Given the description of an element on the screen output the (x, y) to click on. 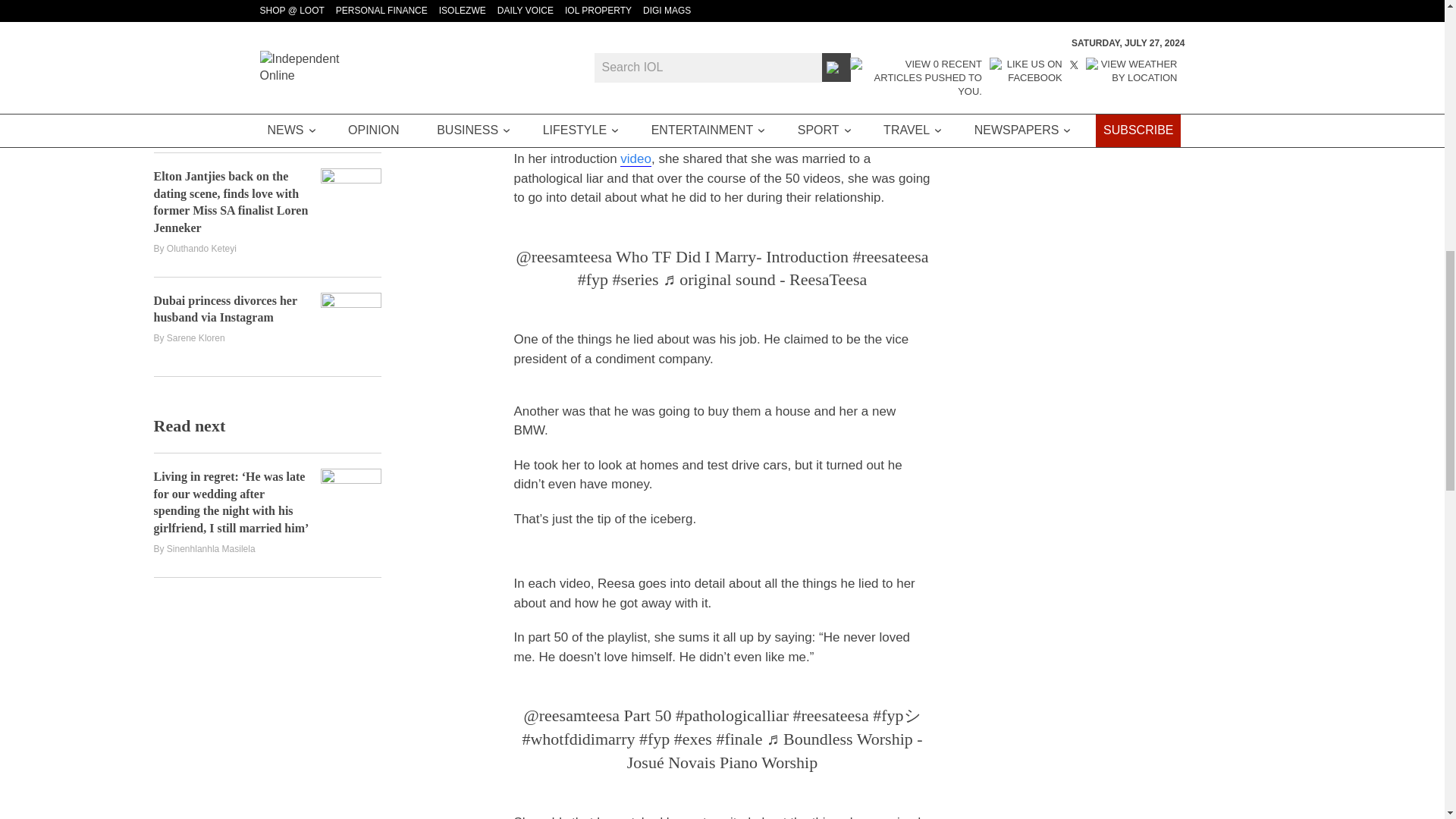
fyp (593, 279)
exes (692, 738)
series (635, 279)
fyp (654, 738)
pathologicalliar (732, 714)
whotfdidimarry (577, 738)
reesateesa (831, 714)
reesateesa (889, 256)
